Given the description of an element on the screen output the (x, y) to click on. 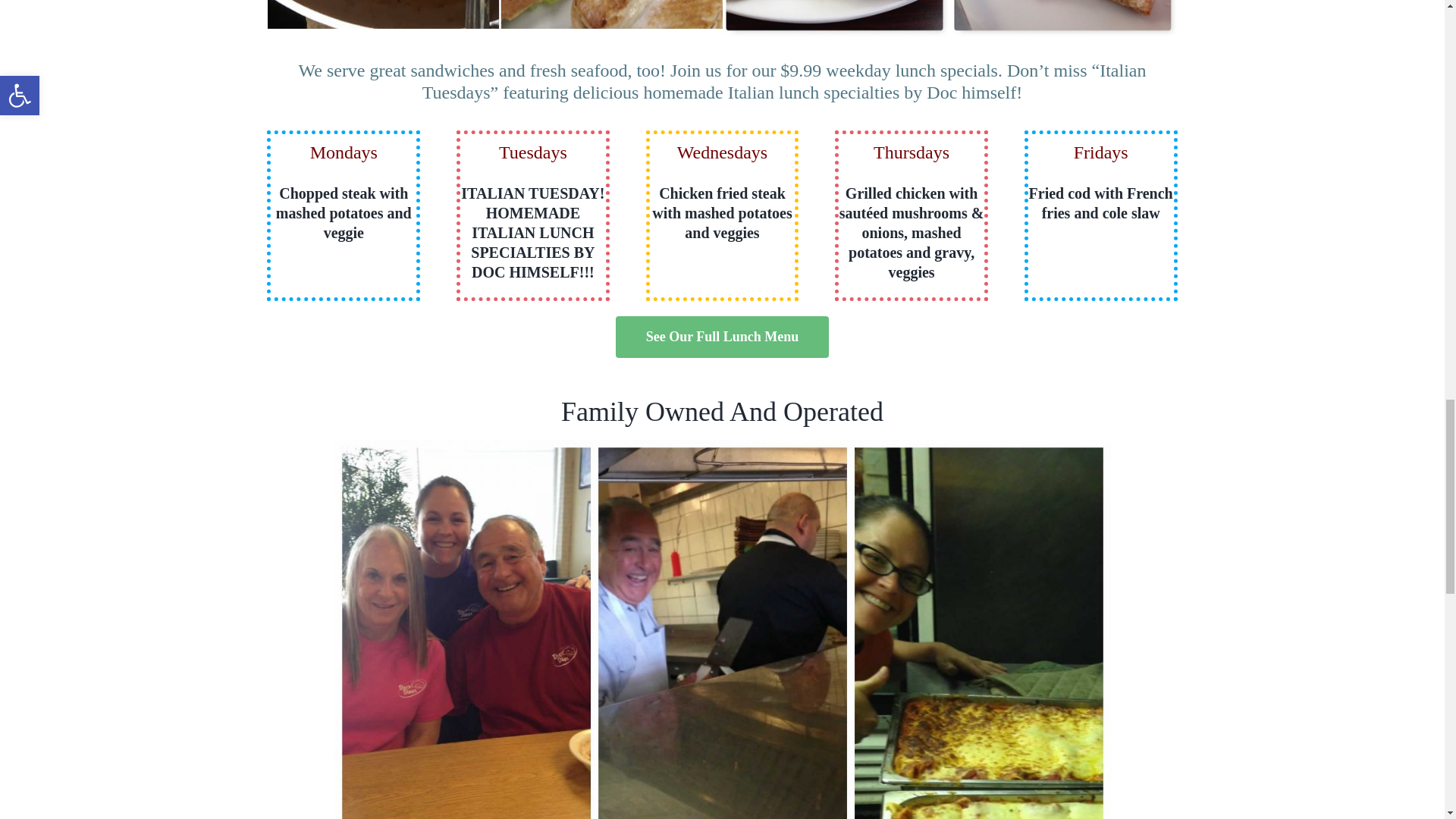
See Our Full Lunch Menu (722, 336)
